Given the description of an element on the screen output the (x, y) to click on. 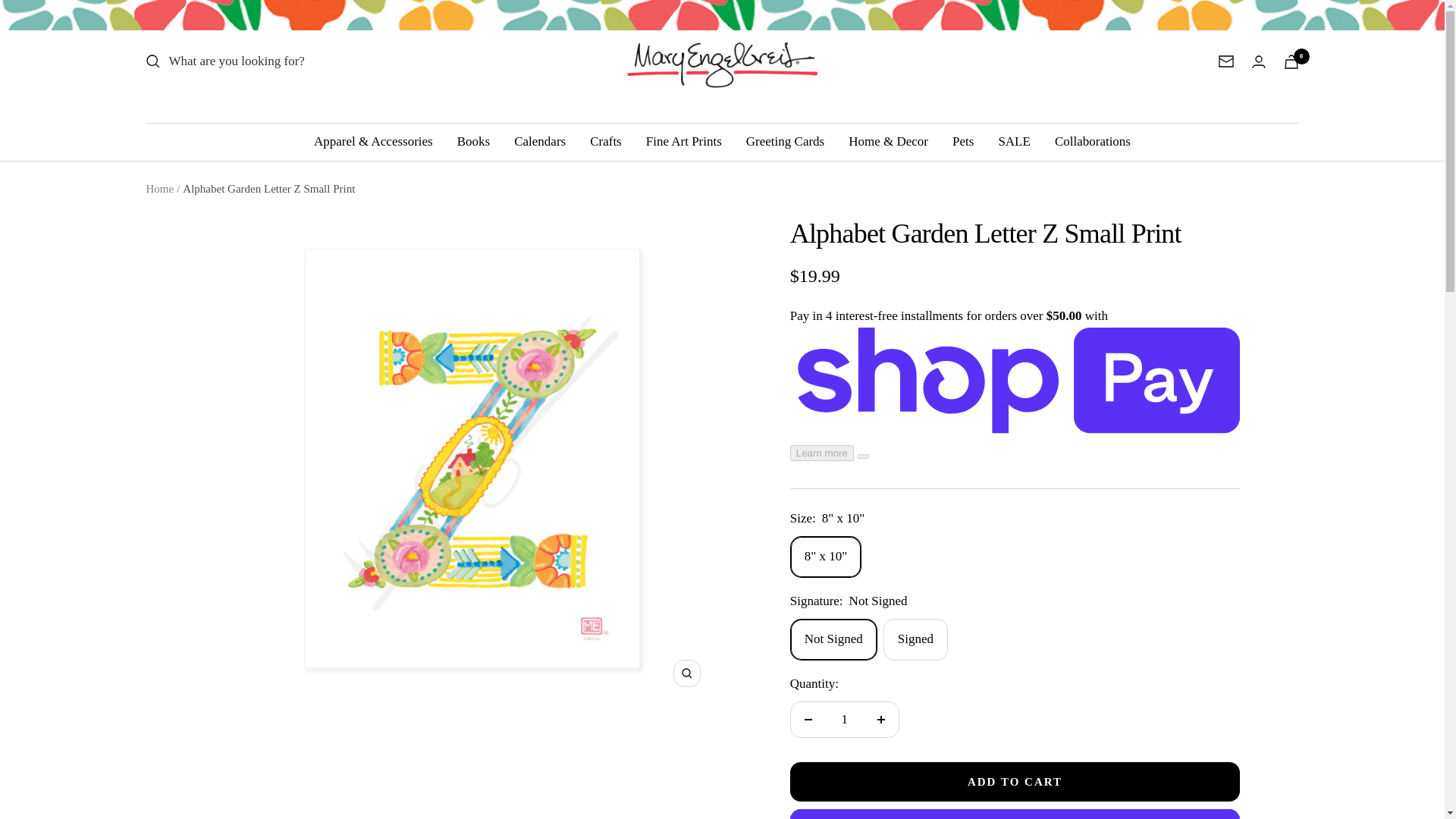
Greeting Cards (784, 141)
SALE (1013, 141)
Pets (963, 141)
ADD TO CART (1015, 781)
Fine Art Prints (684, 141)
Calendars (539, 141)
Decrease quantity (807, 719)
Zoom (686, 673)
1 (844, 719)
Crafts (605, 141)
Increase quantity (880, 719)
Mary Engelbreit (721, 61)
